Given the description of an element on the screen output the (x, y) to click on. 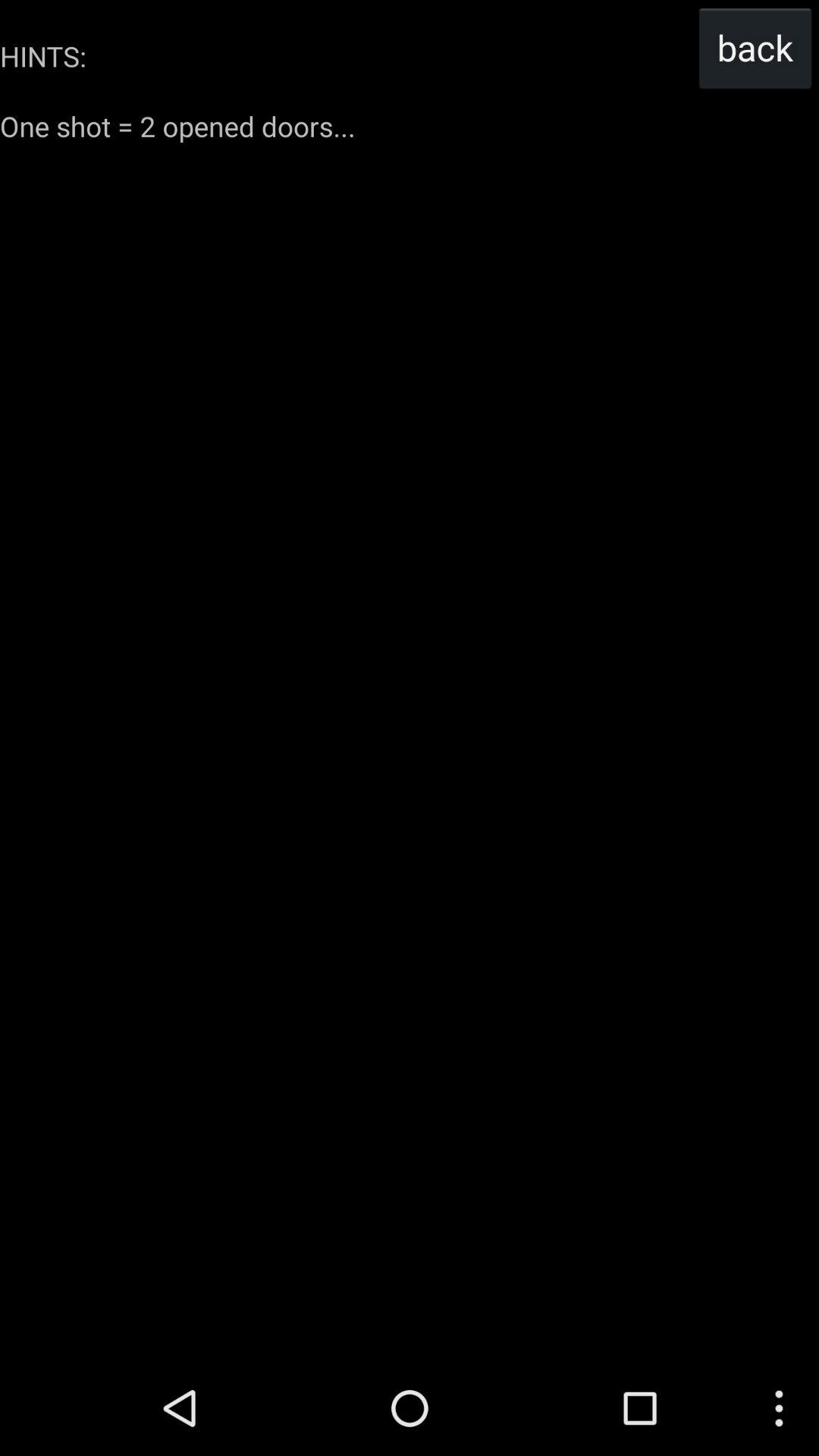
flip to the back button (755, 47)
